Given the description of an element on the screen output the (x, y) to click on. 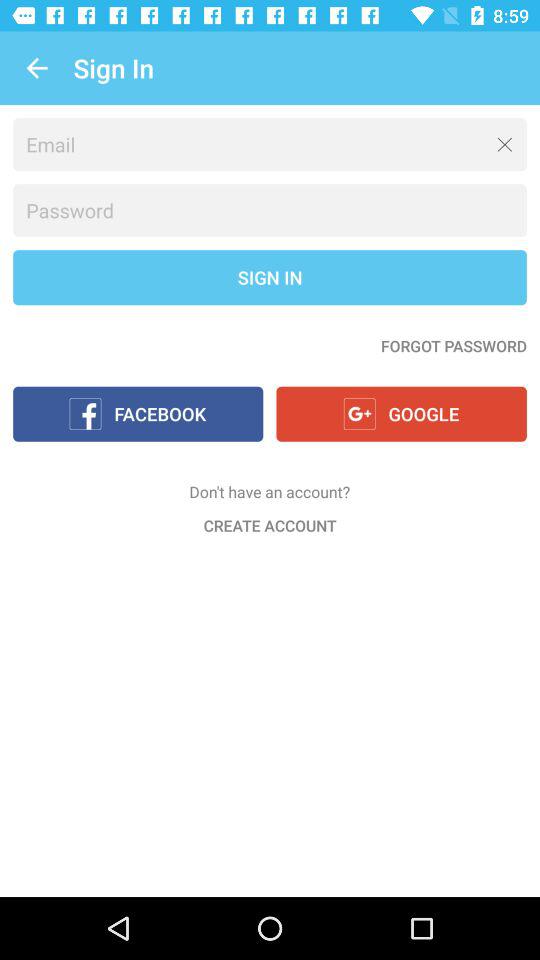
swipe to forgot password (453, 345)
